Given the description of an element on the screen output the (x, y) to click on. 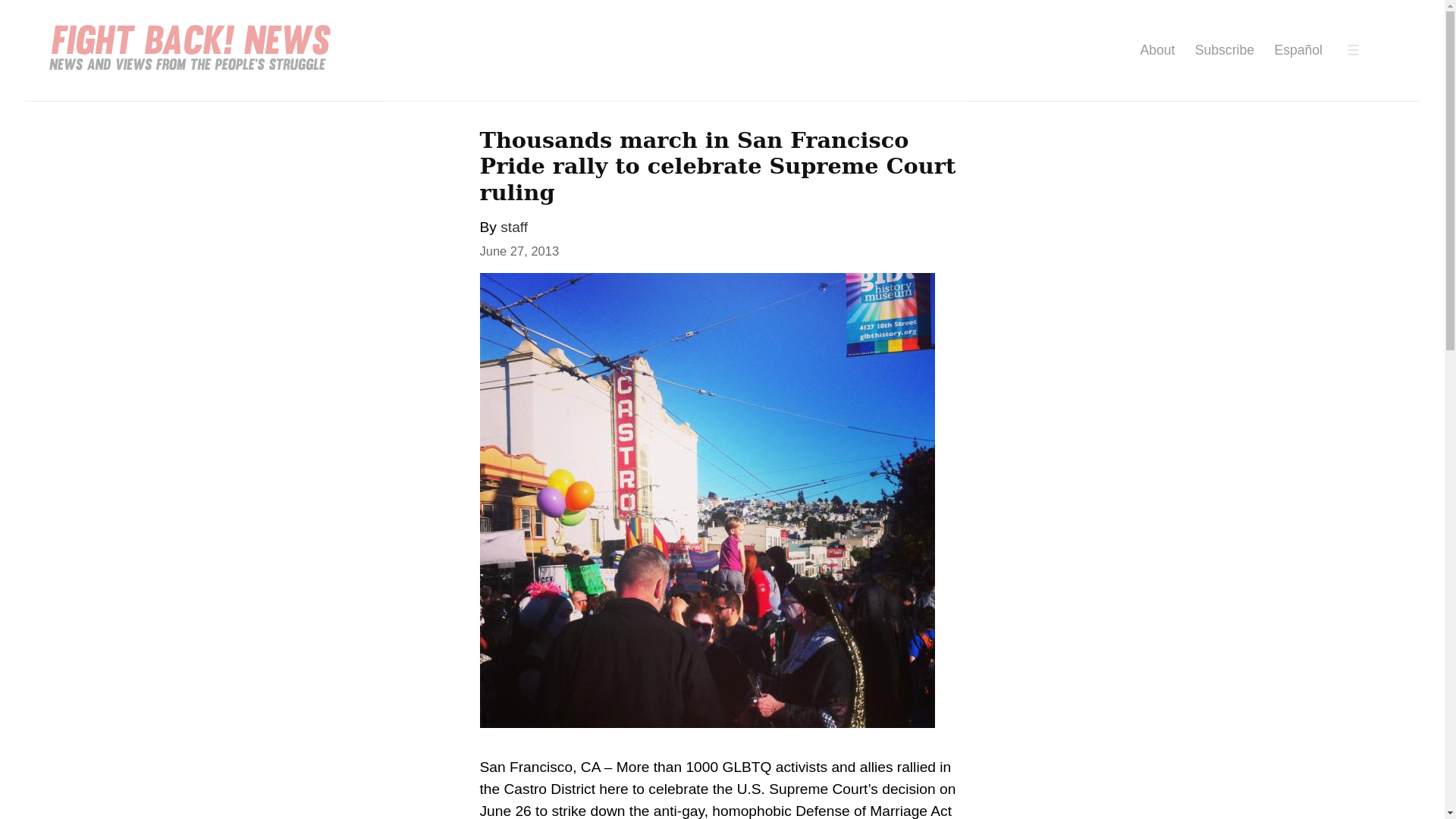
staff (513, 227)
Subscribe (1224, 50)
About (1157, 50)
